Given the description of an element on the screen output the (x, y) to click on. 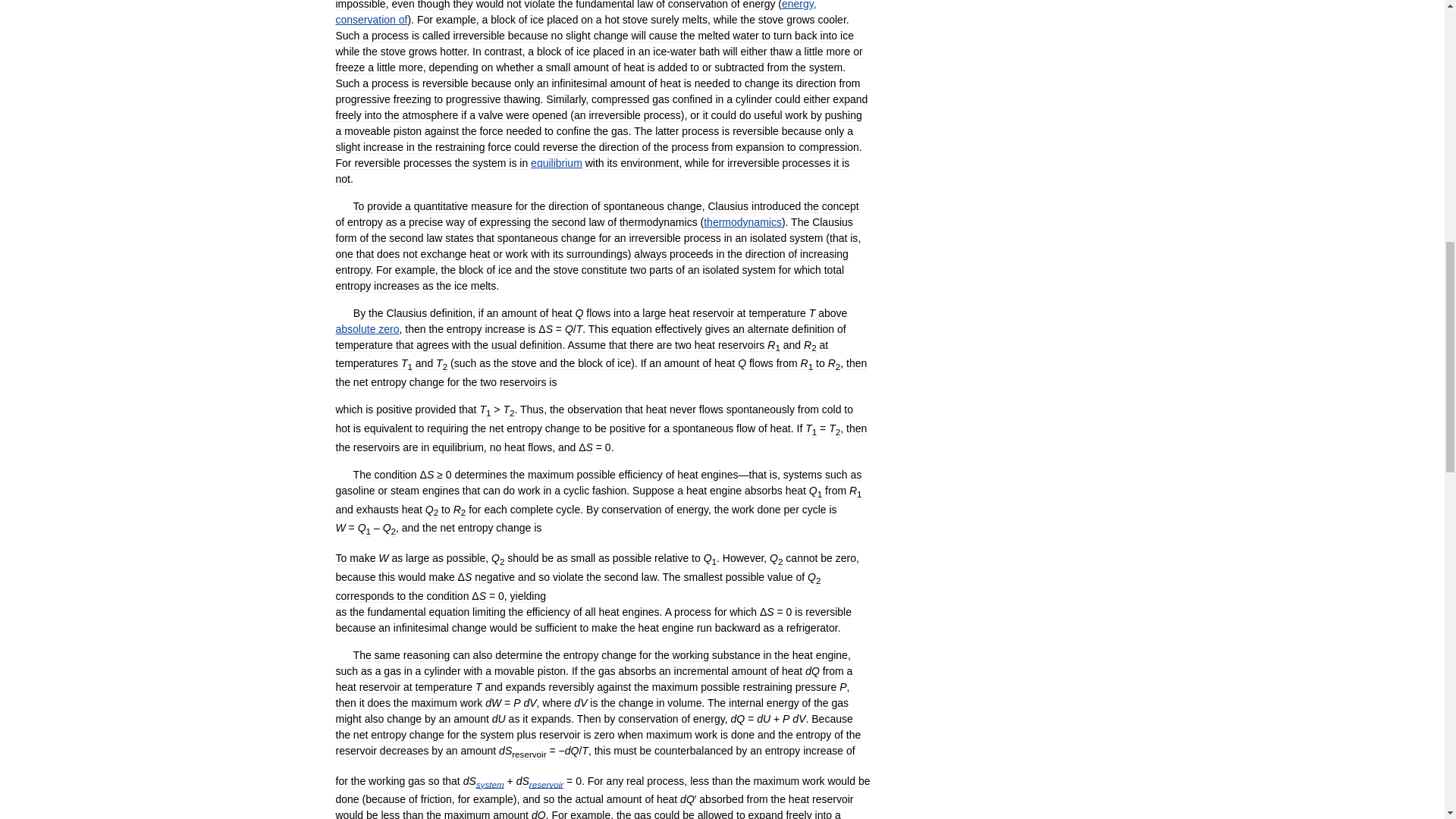
energy, conservation of (574, 12)
thermodynamics (742, 222)
absolute zero (366, 328)
equilibrium (556, 162)
